Given the description of an element on the screen output the (x, y) to click on. 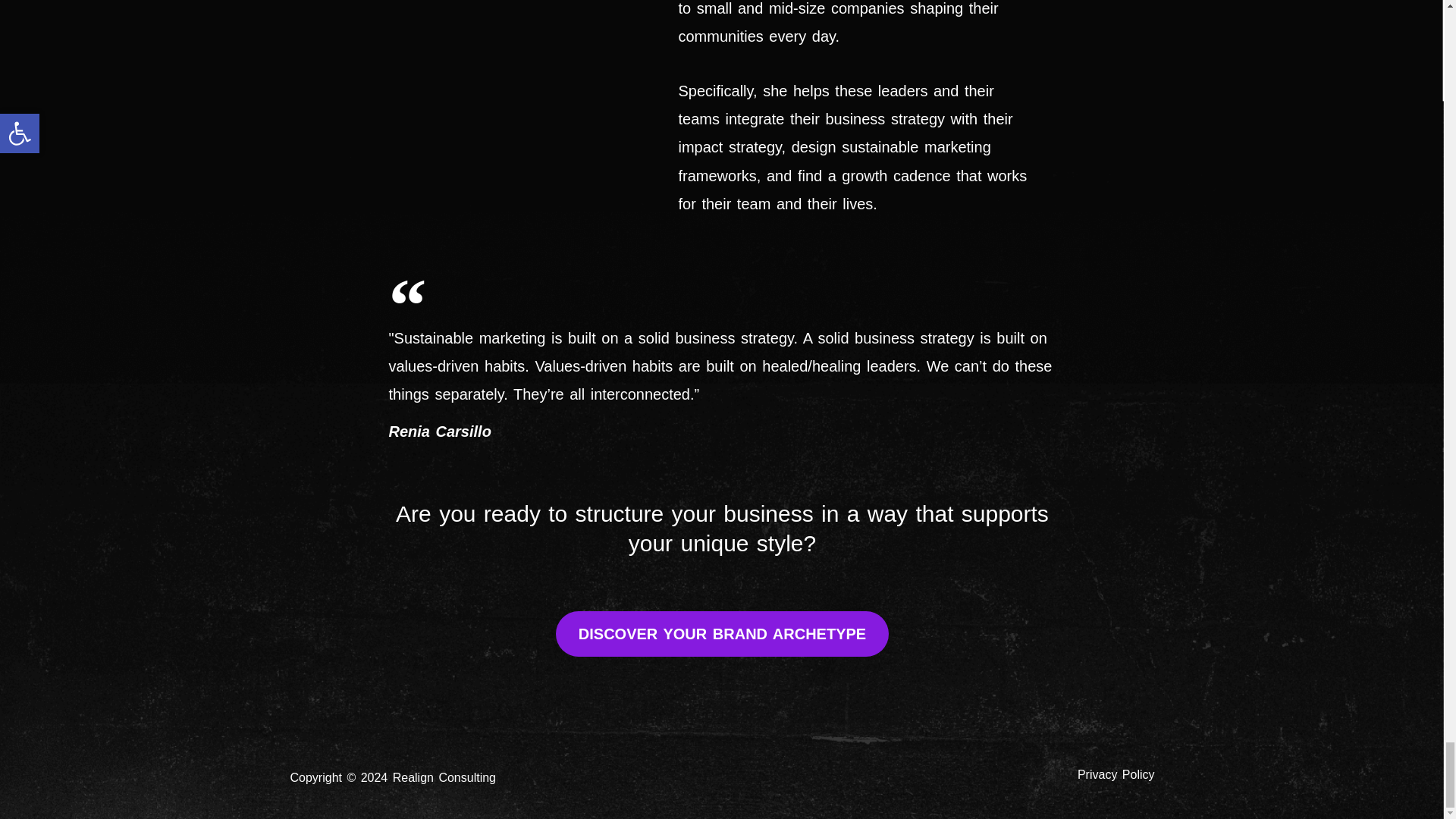
Privacy Policy (1115, 774)
DISCOVER YOUR BRAND ARCHETYPE (722, 633)
